Given the description of an element on the screen output the (x, y) to click on. 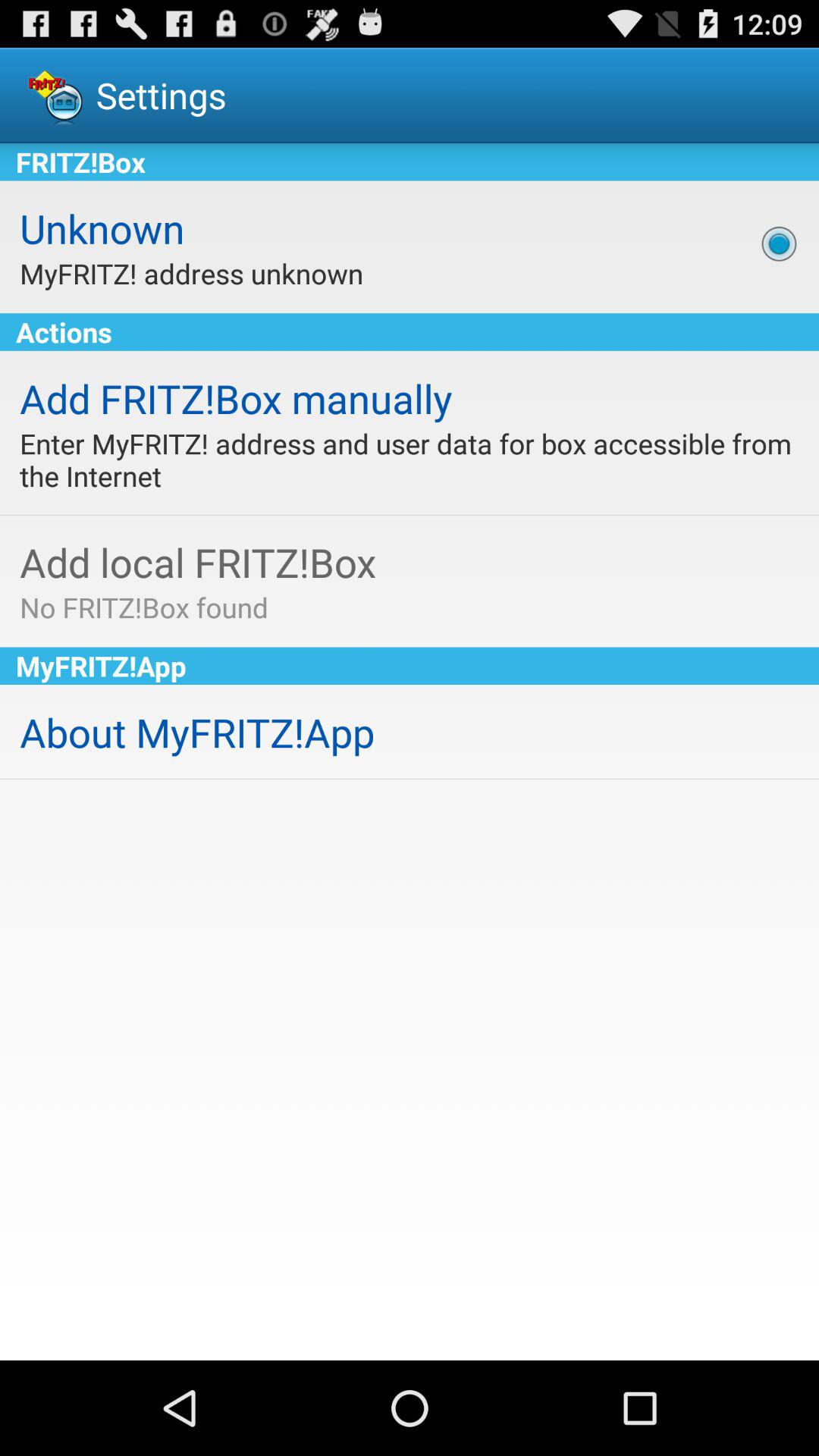
launch icon above the add fritz box app (409, 331)
